Given the description of an element on the screen output the (x, y) to click on. 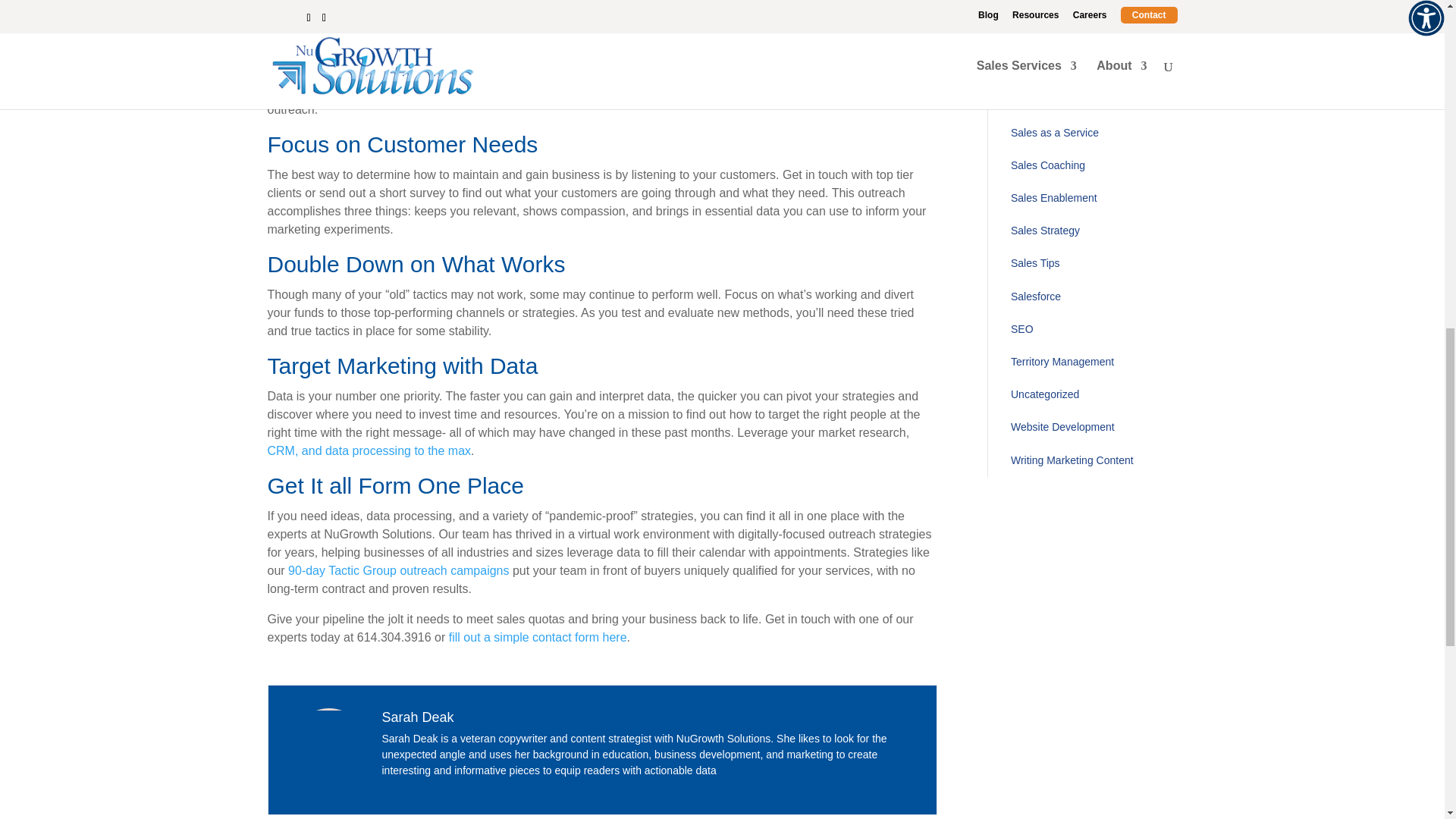
CRM, and data processing to the max (368, 450)
90-day Tactic Group outreach campaigns (398, 570)
Sarah Deak (417, 717)
fill out a simple contact form here (537, 636)
